Given the description of an element on the screen output the (x, y) to click on. 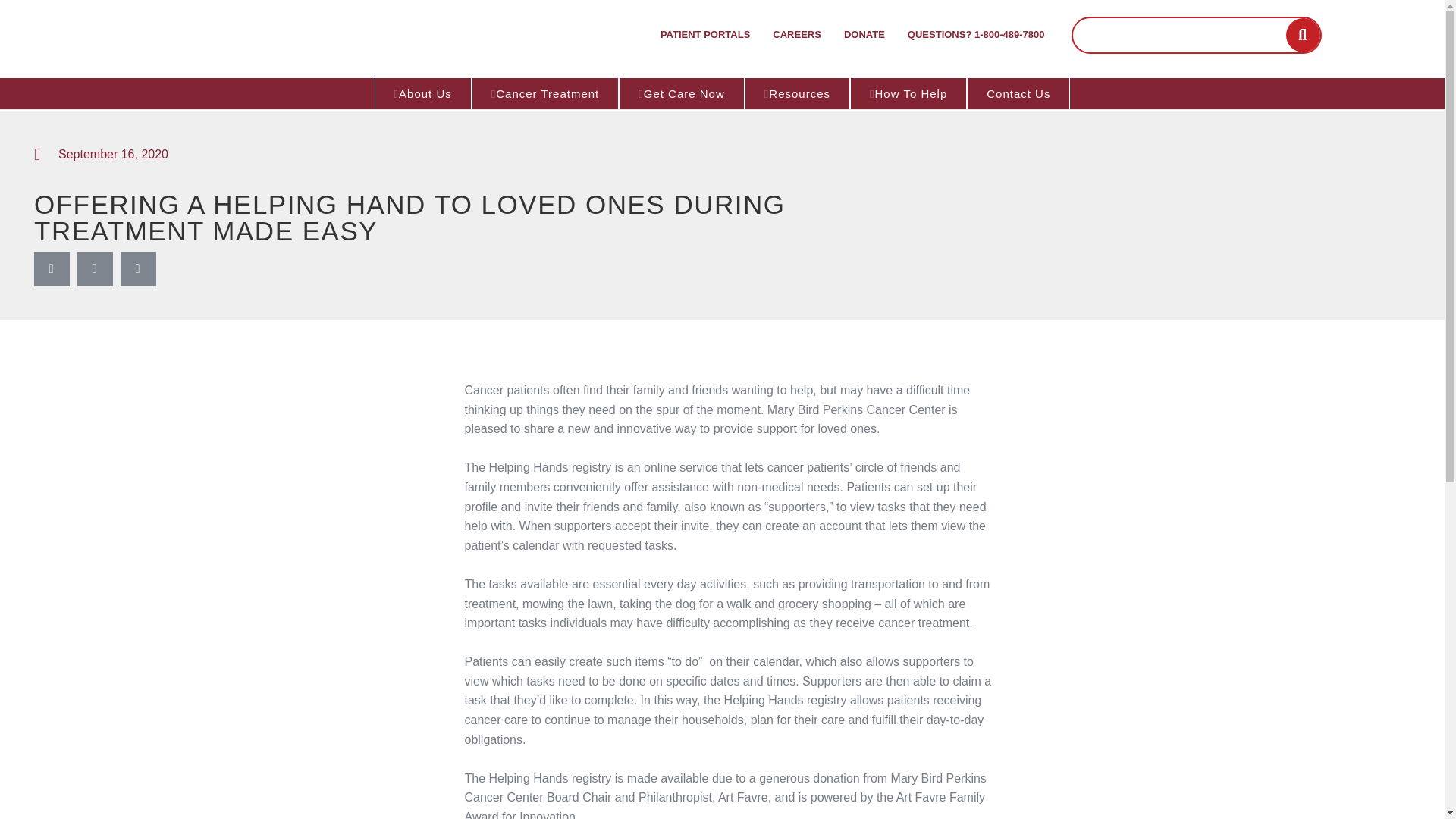
PATIENT PORTALS (705, 34)
DONATE (864, 34)
About Us (422, 92)
QUESTIONS? 1-800-489-7800 (976, 34)
CAREERS (796, 34)
